Given the description of an element on the screen output the (x, y) to click on. 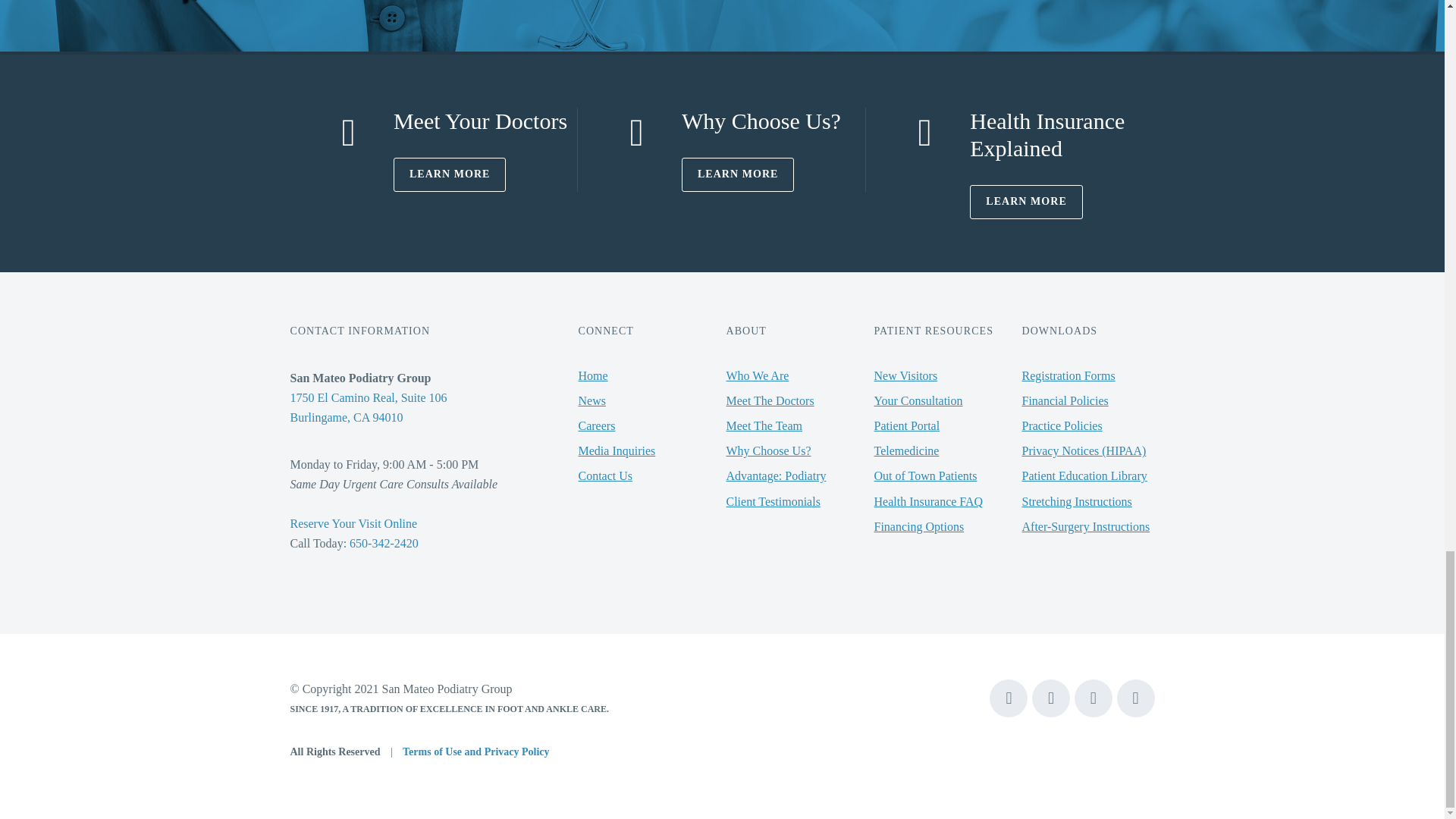
LinkedIn (1135, 698)
Health Insurance Explained (1046, 134)
Meet Your Doctors (480, 120)
Why Choose Us? (761, 120)
LEARN MORE (1026, 202)
1750 El Camino Real, Suite 106 (367, 397)
Burlingame, CA 94010 (346, 417)
LEARN MORE (737, 174)
YouTube (1051, 698)
LEARN MORE (449, 174)
Facebook (1008, 698)
